Given the description of an element on the screen output the (x, y) to click on. 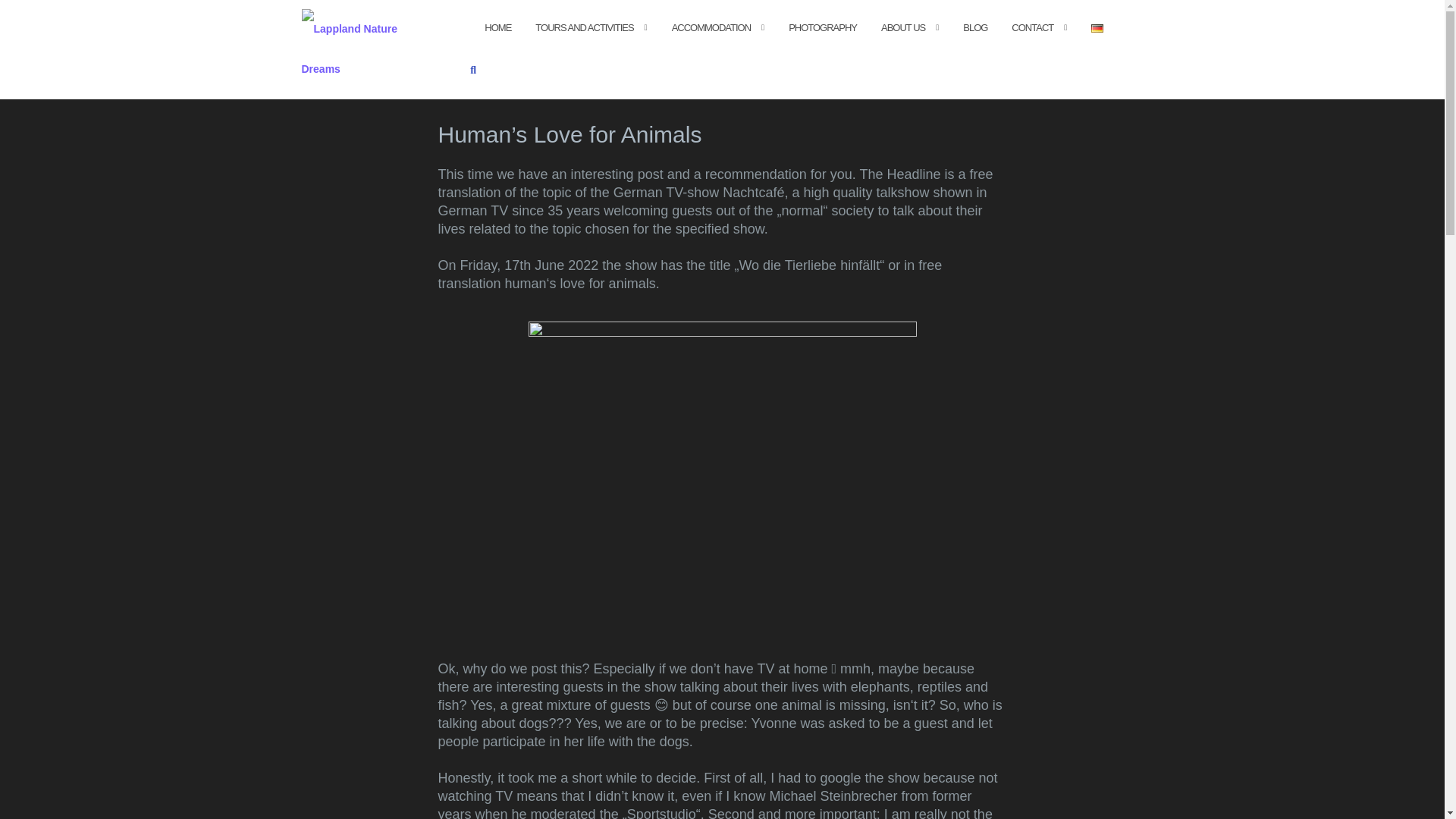
ACCOMMODATION (711, 28)
CONTACT (1031, 28)
PHOTOGRAPHY (823, 28)
TOURS AND ACTIVITIES (584, 28)
Tours and Activities (584, 28)
ABOUT US (902, 28)
